Given the description of an element on the screen output the (x, y) to click on. 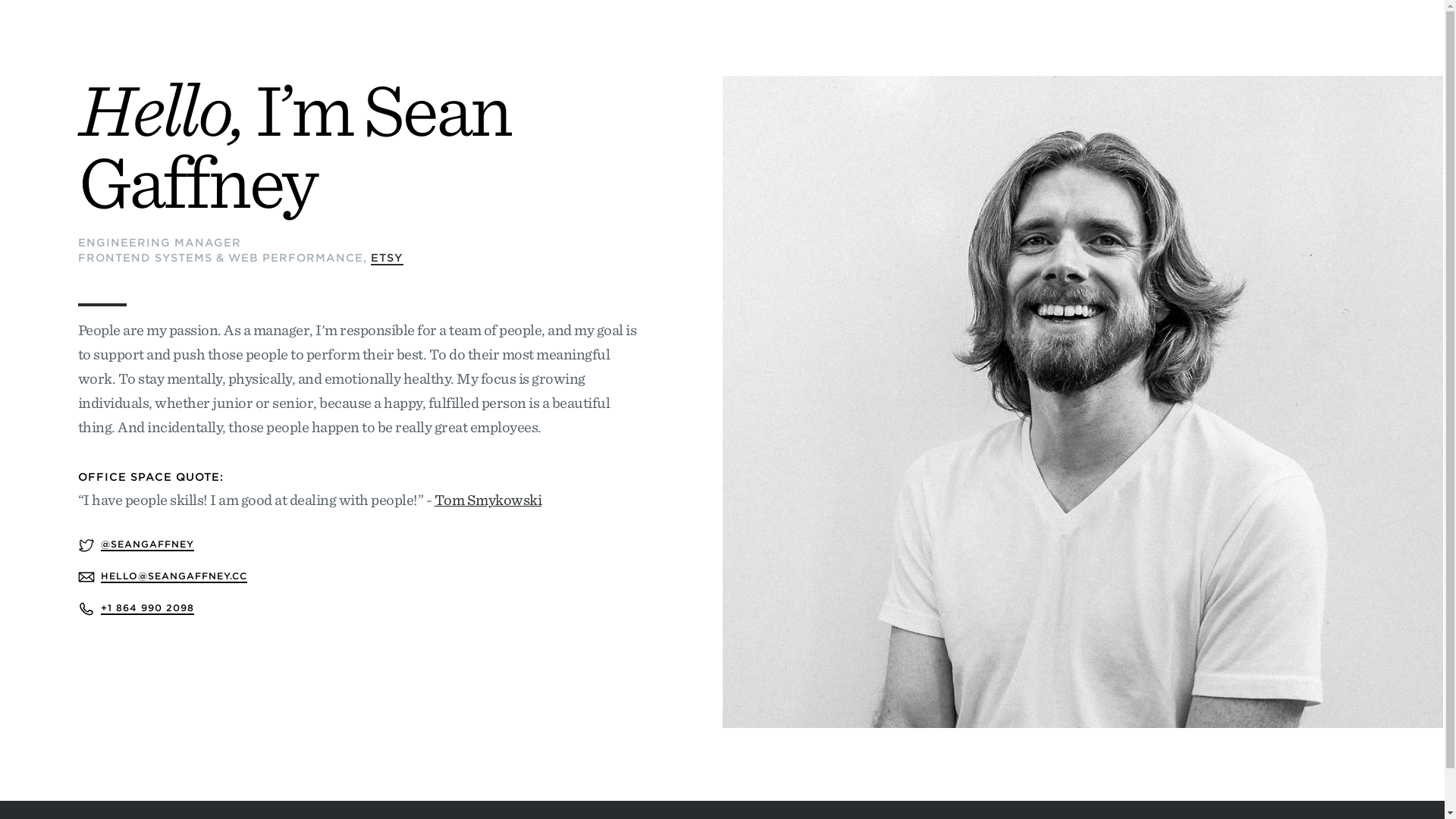
HELLO@SEANGAFFNEY.CC Element type: text (173, 576)
@SEANGAFFNEY Element type: text (146, 544)
+1 864 990 2098 Element type: text (146, 608)
ETSY Element type: text (386, 258)
Tom Smykowski Element type: text (487, 500)
